Given the description of an element on the screen output the (x, y) to click on. 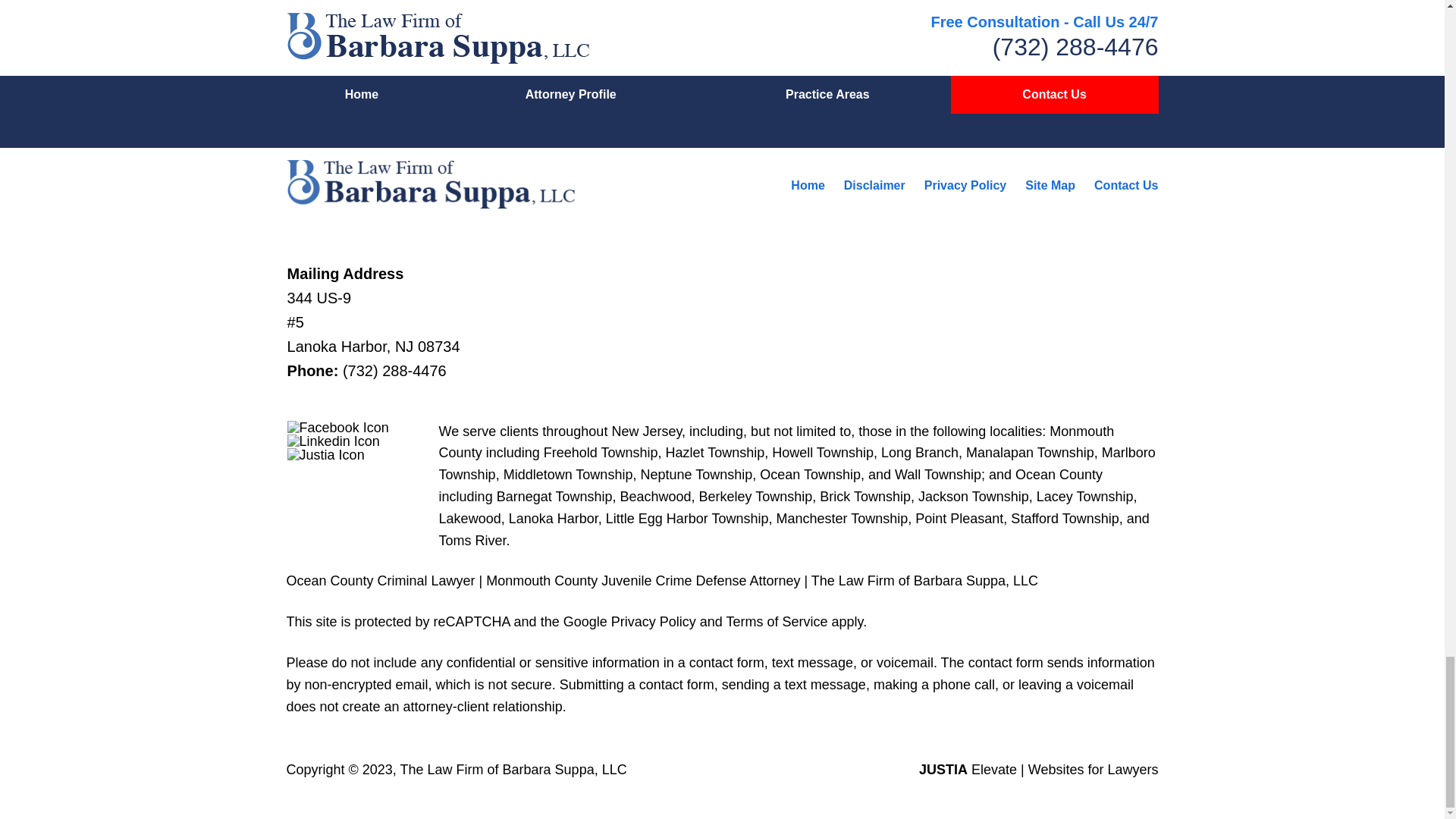
Justia (325, 454)
Linkedin (333, 440)
Contact Us Now (950, 21)
Facebook (337, 427)
